Given the description of an element on the screen output the (x, y) to click on. 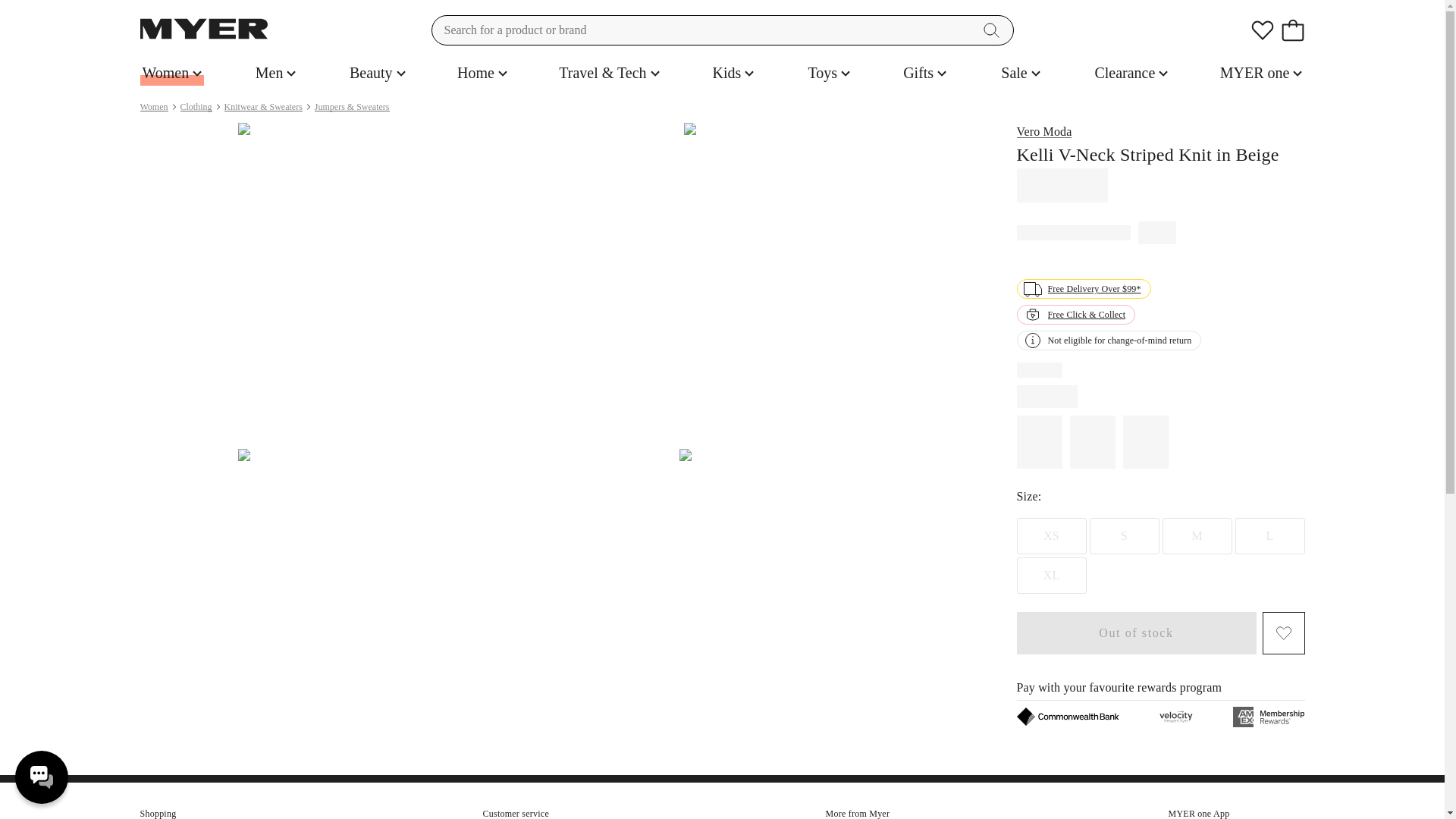
Beauty (377, 72)
Home (481, 72)
Not eligible for change-of-mind return (1108, 340)
Kids (733, 72)
Clearance (1131, 72)
Gifts (925, 72)
Click here to toggle the virtual assistant (41, 777)
Men (275, 72)
XS (1051, 535)
L (1269, 535)
